Given the description of an element on the screen output the (x, y) to click on. 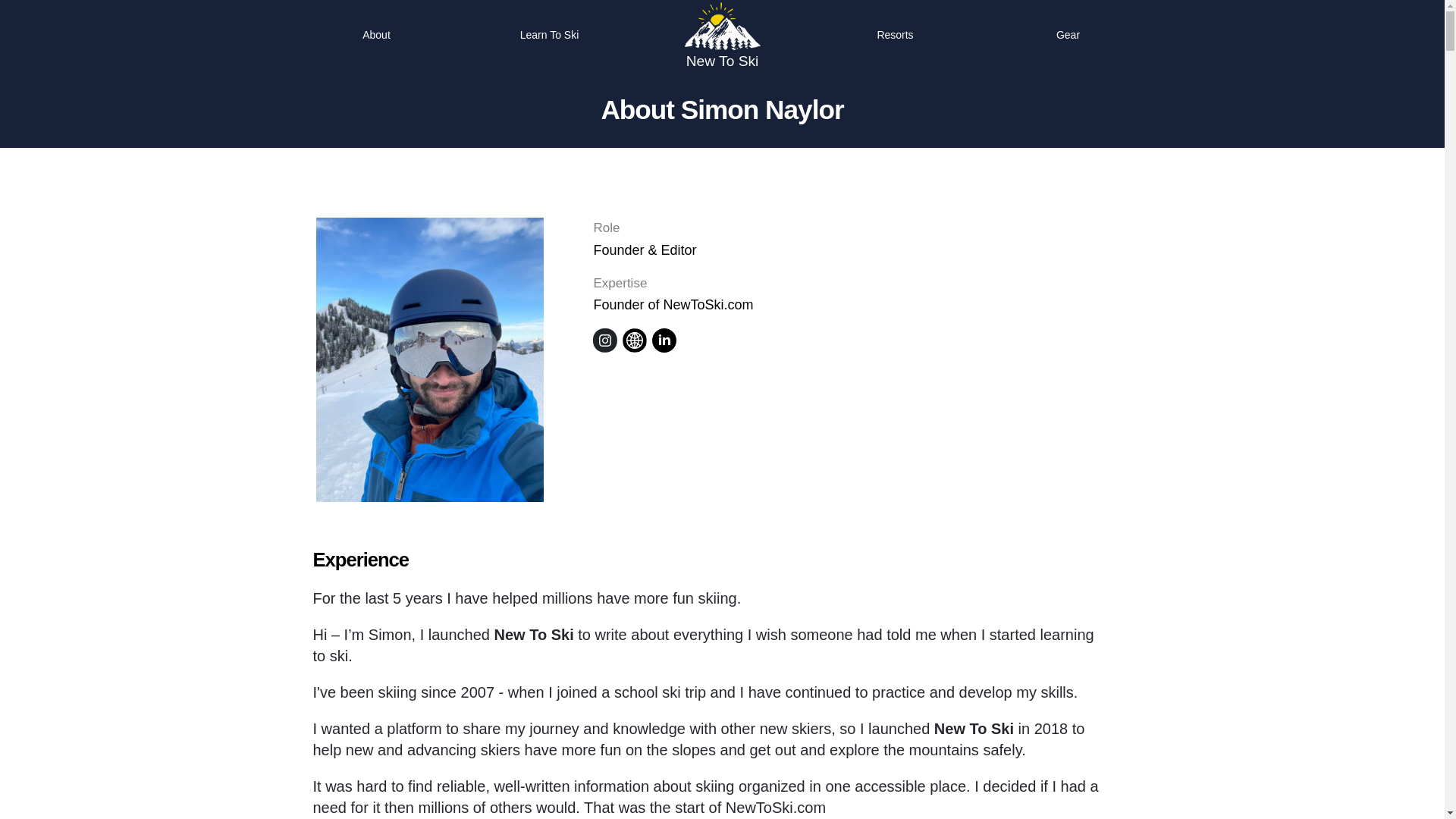
NewToSki Instagram (604, 340)
Ski Resorts (894, 34)
Logo (721, 34)
Learn To Ski (549, 34)
New To Ski (722, 60)
NewToSki Youtube (634, 340)
About (376, 34)
Gear (1067, 34)
Gear (1067, 34)
Resorts (894, 34)
NewToSki (722, 25)
NewToSki linkedin (664, 340)
Learn To Ski (549, 34)
About (376, 34)
